Given the description of an element on the screen output the (x, y) to click on. 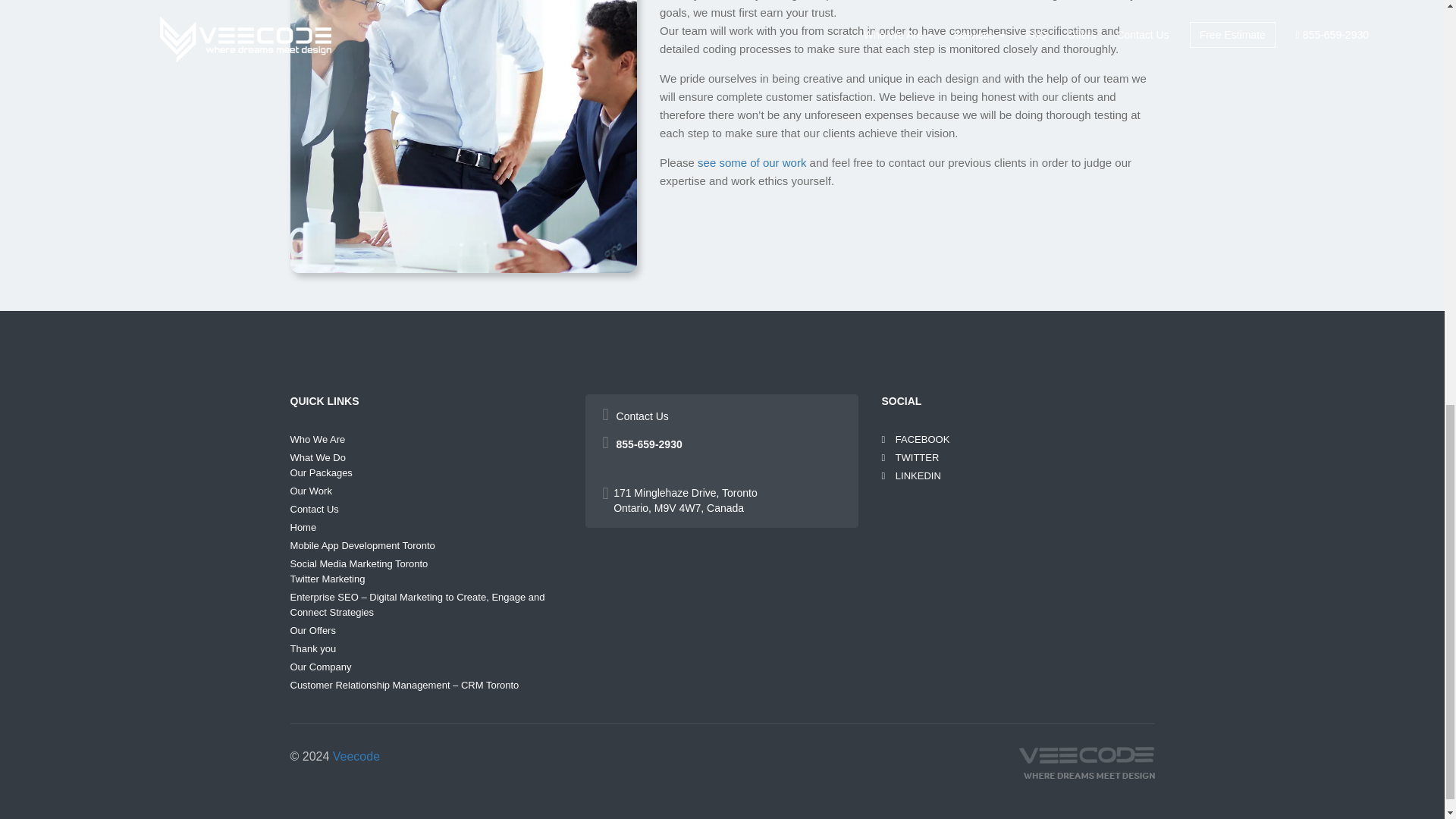
Contact Us (313, 509)
see some of our work (751, 162)
Our Work (310, 490)
Twitter Marketing (327, 578)
Who We Are (317, 439)
Mobile App Development Toronto (361, 545)
Our Packages (320, 472)
Social Media Marketing Toronto (358, 563)
Home (302, 527)
What We Do (317, 457)
